Given the description of an element on the screen output the (x, y) to click on. 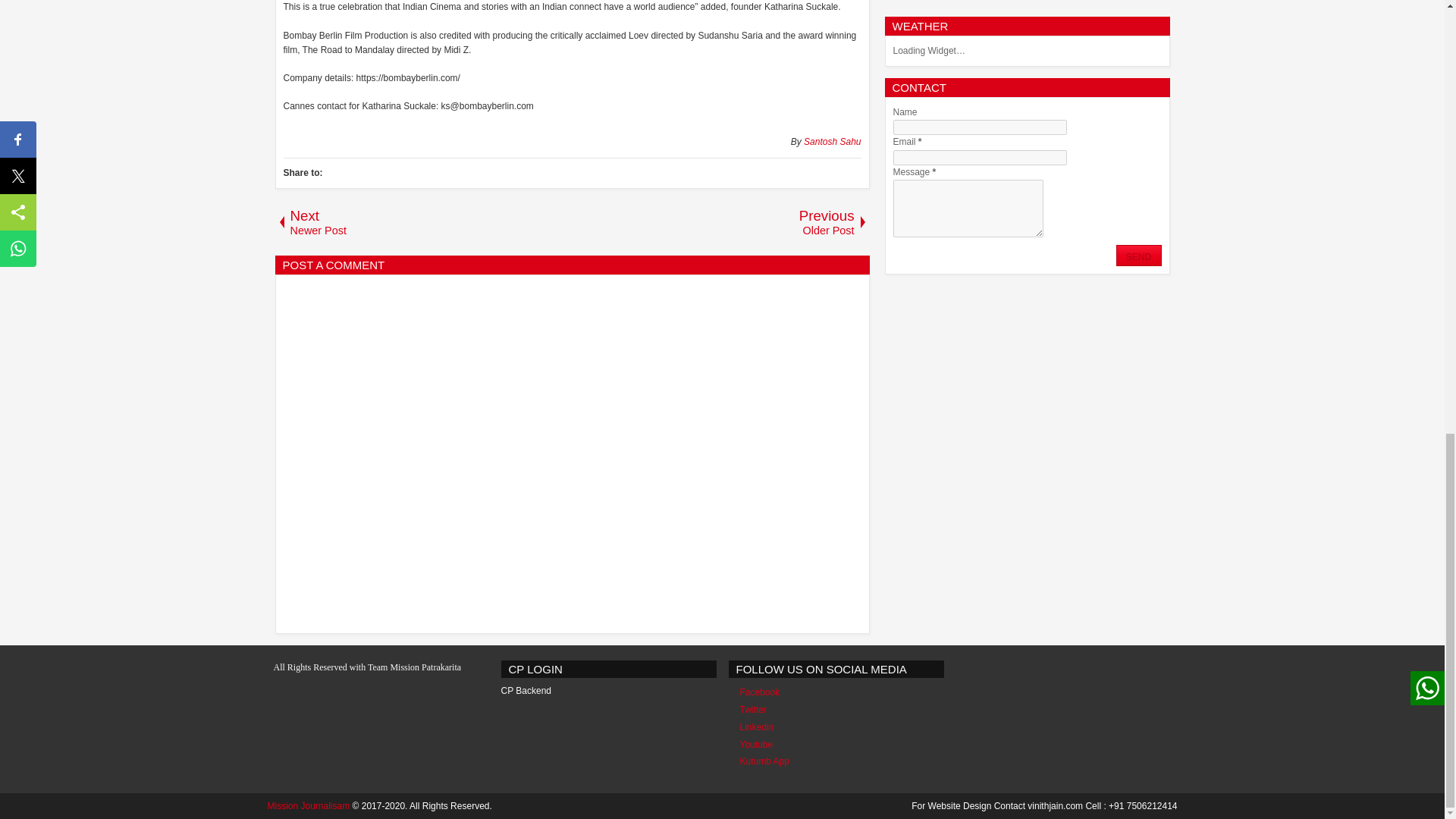
author profile (831, 141)
Send (1138, 255)
Older Post (720, 221)
Newer Post (423, 221)
